Given the description of an element on the screen output the (x, y) to click on. 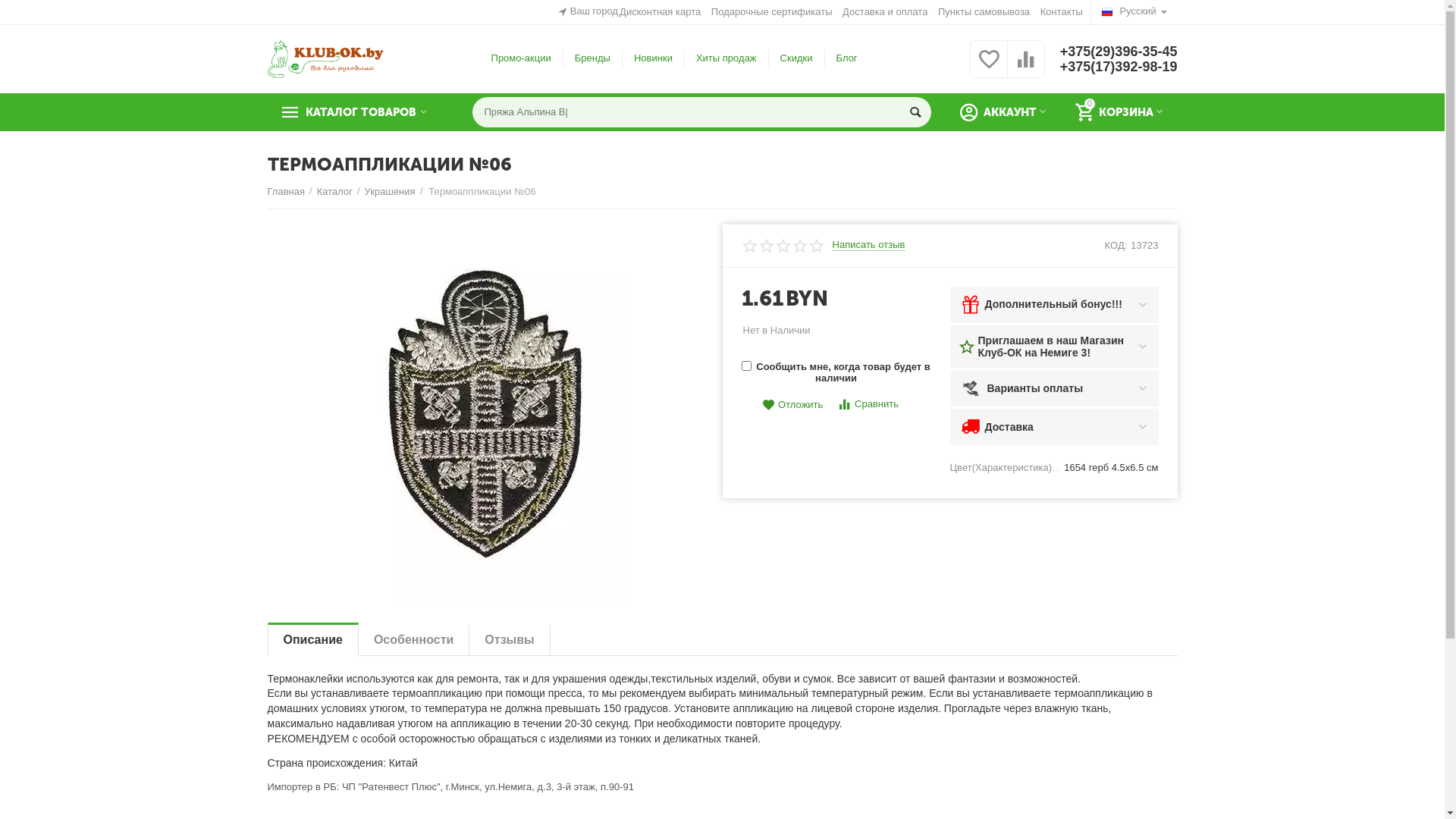
+375(17)392-98-19 Element type: text (1118, 66)
Klub-ok.by Element type: hover (324, 59)
on Element type: text (746, 365)
Klub-ok.by Element type: hover (324, 57)
+375(29)396-35-45 Element type: text (1118, 51)
